Given the description of an element on the screen output the (x, y) to click on. 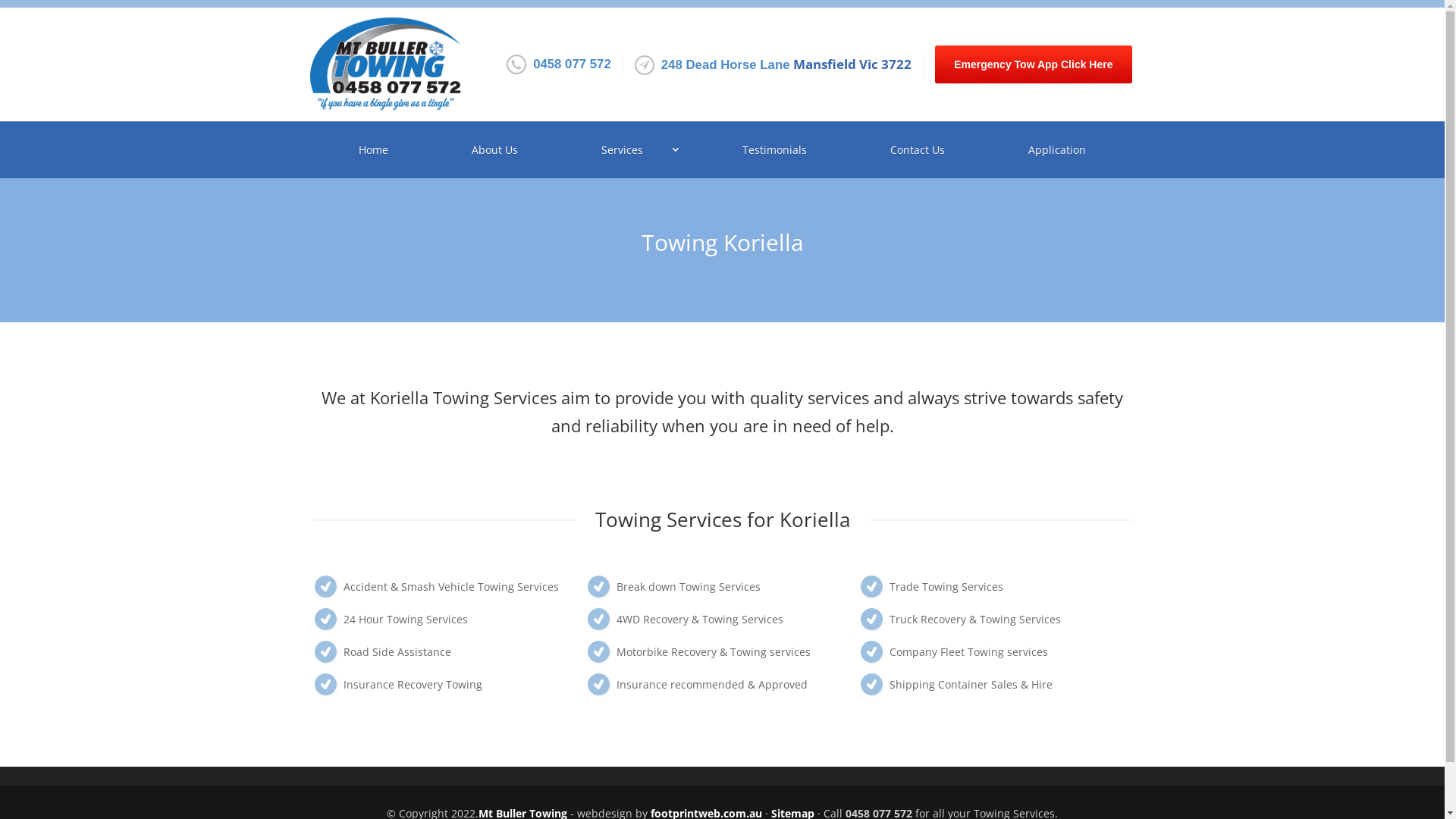
248 Dead Horse Lane Mansfield Vic 3722 Element type: text (786, 64)
About Us Element type: text (494, 149)
Home Element type: text (372, 149)
Emergency Tow App Click Here Element type: text (1033, 64)
0458 077 572 Element type: text (572, 64)
Testimonials Element type: text (774, 149)
Services Element type: text (625, 149)
Application Element type: text (1057, 149)
Contact Us Element type: text (917, 149)
